Given the description of an element on the screen output the (x, y) to click on. 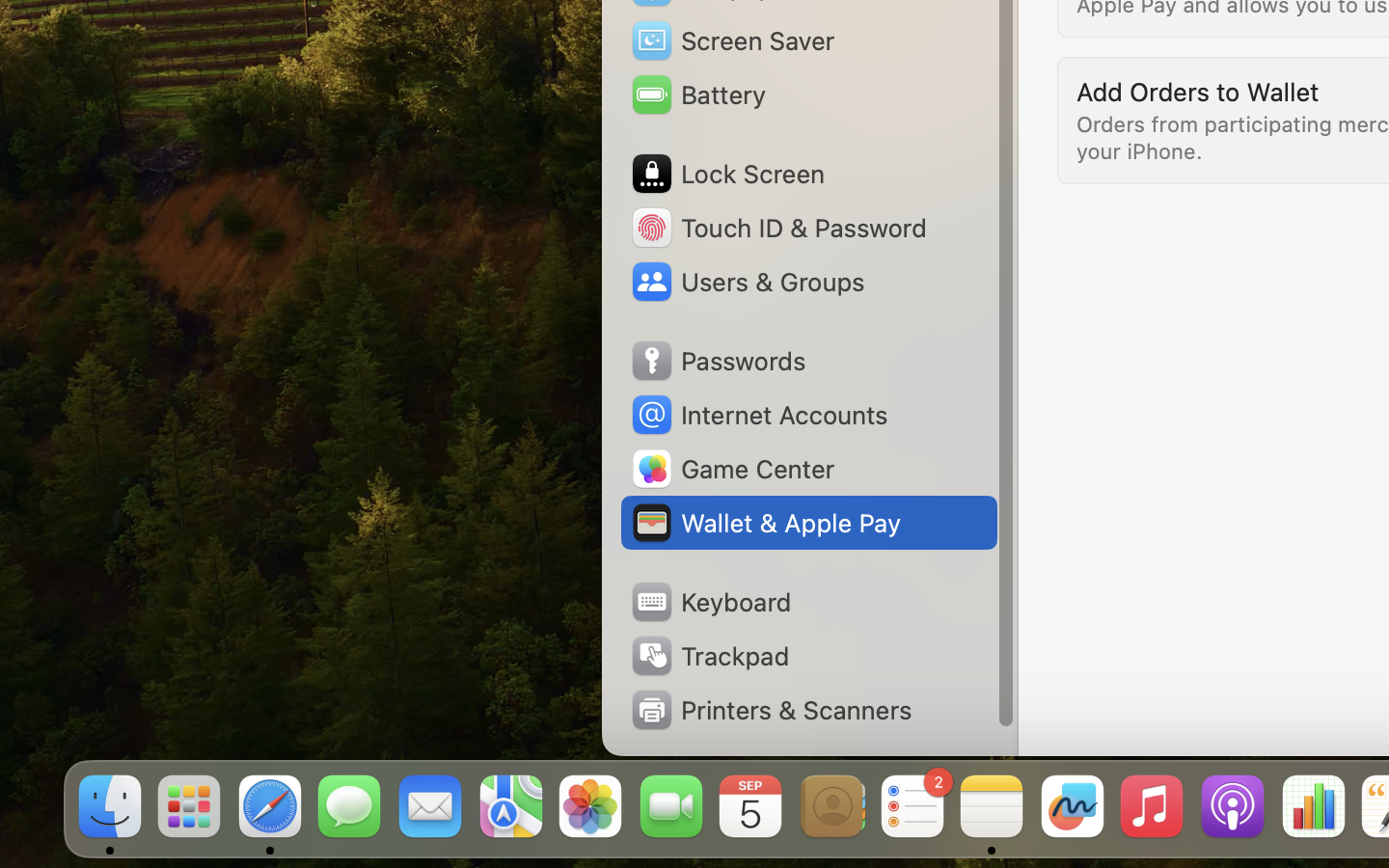
Keyboard Element type: AXStaticText (709, 601)
Internet Accounts Element type: AXStaticText (757, 414)
Add Orders to Wallet Element type: AXStaticText (1197, 90)
Printers & Scanners Element type: AXStaticText (770, 709)
Passwords Element type: AXStaticText (717, 360)
